Given the description of an element on the screen output the (x, y) to click on. 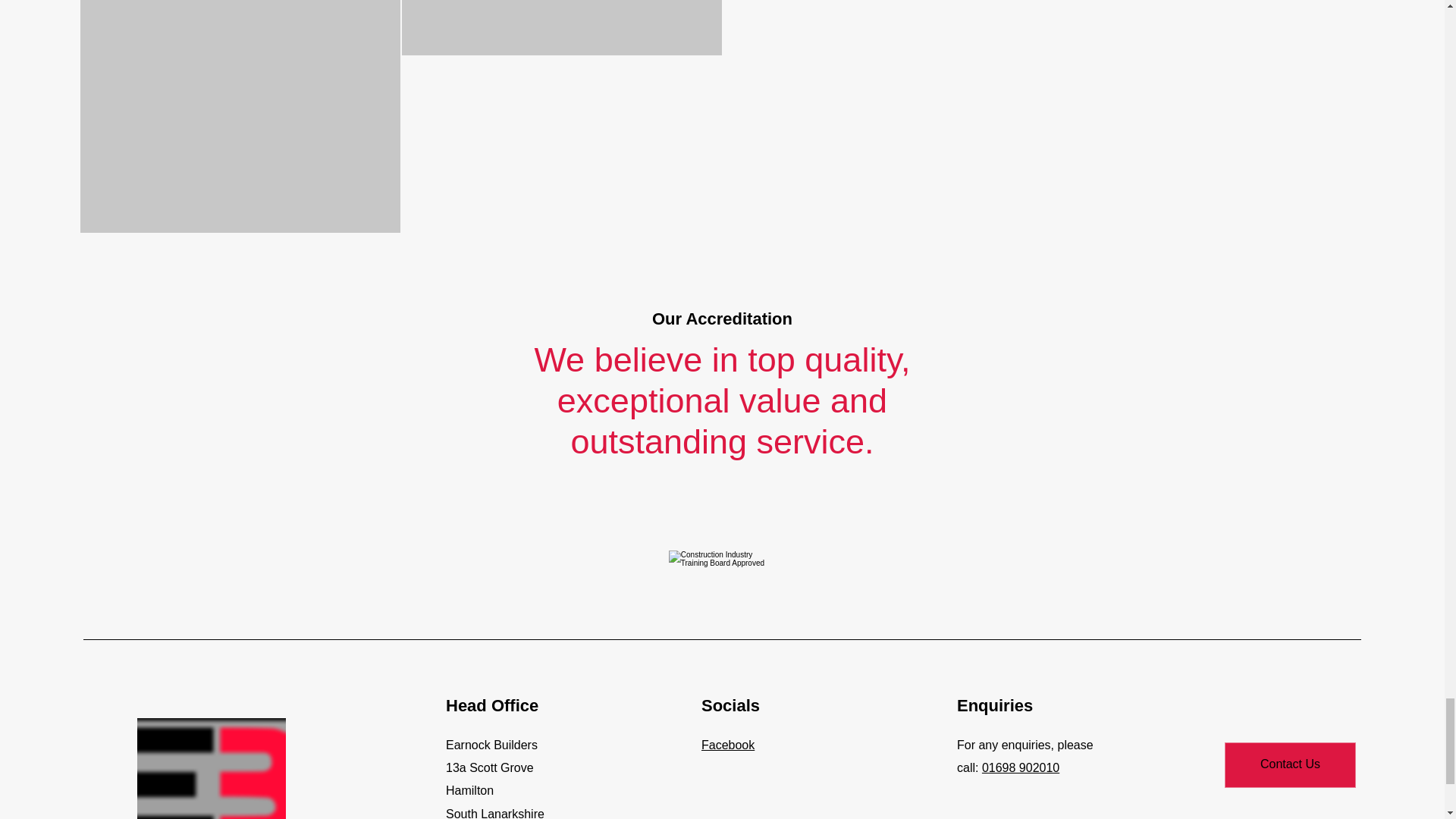
Facebook (727, 744)
Contact Us (1289, 764)
01698 902010 (1020, 767)
